Given the description of an element on the screen output the (x, y) to click on. 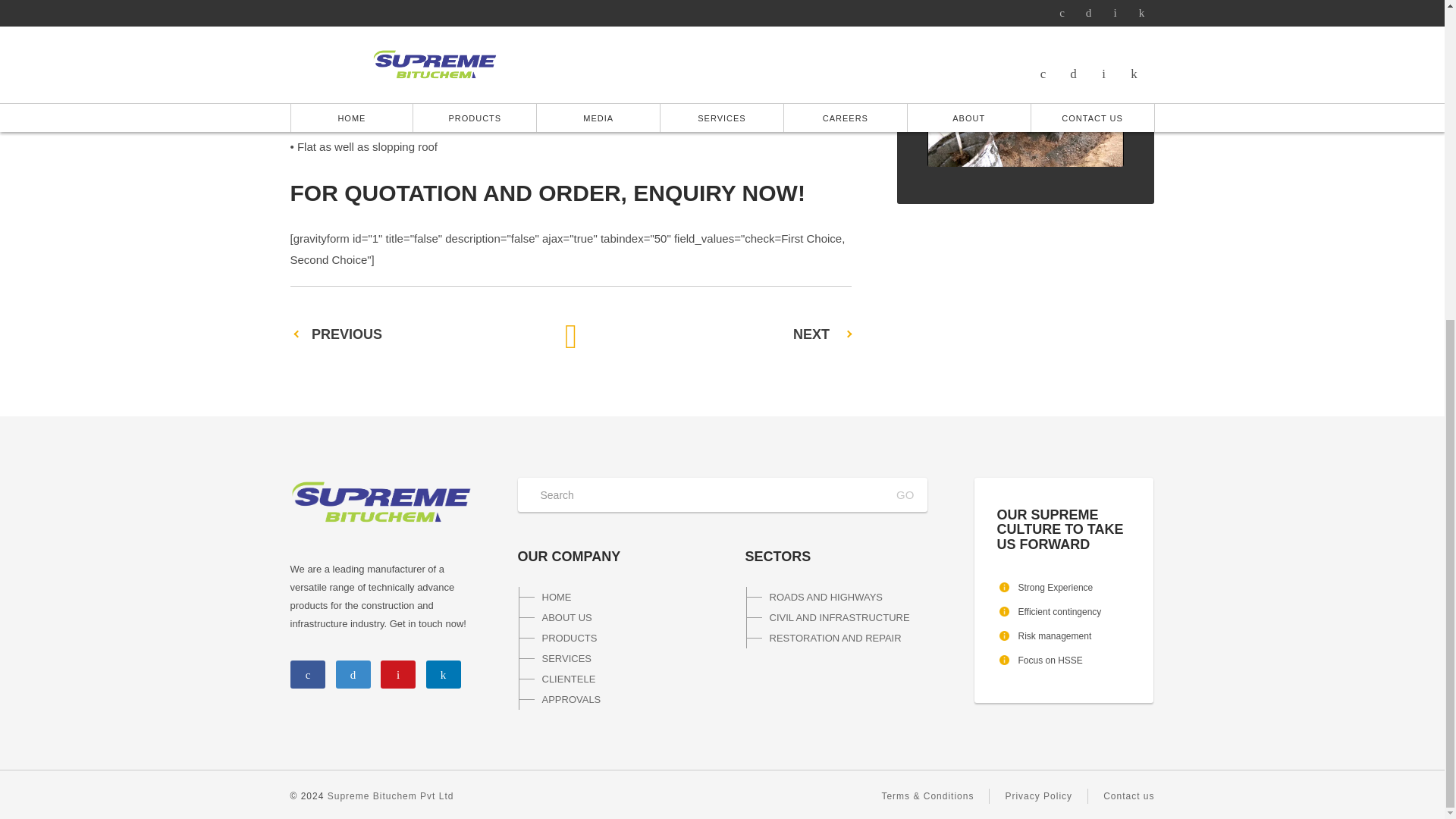
SERVICES (608, 658)
ABOUT US (608, 617)
PRODUCTS (608, 638)
DOWNLOAD (1025, 21)
NEXT (811, 334)
GO (904, 494)
HOME (608, 597)
PREVIOUS (346, 334)
